Given the description of an element on the screen output the (x, y) to click on. 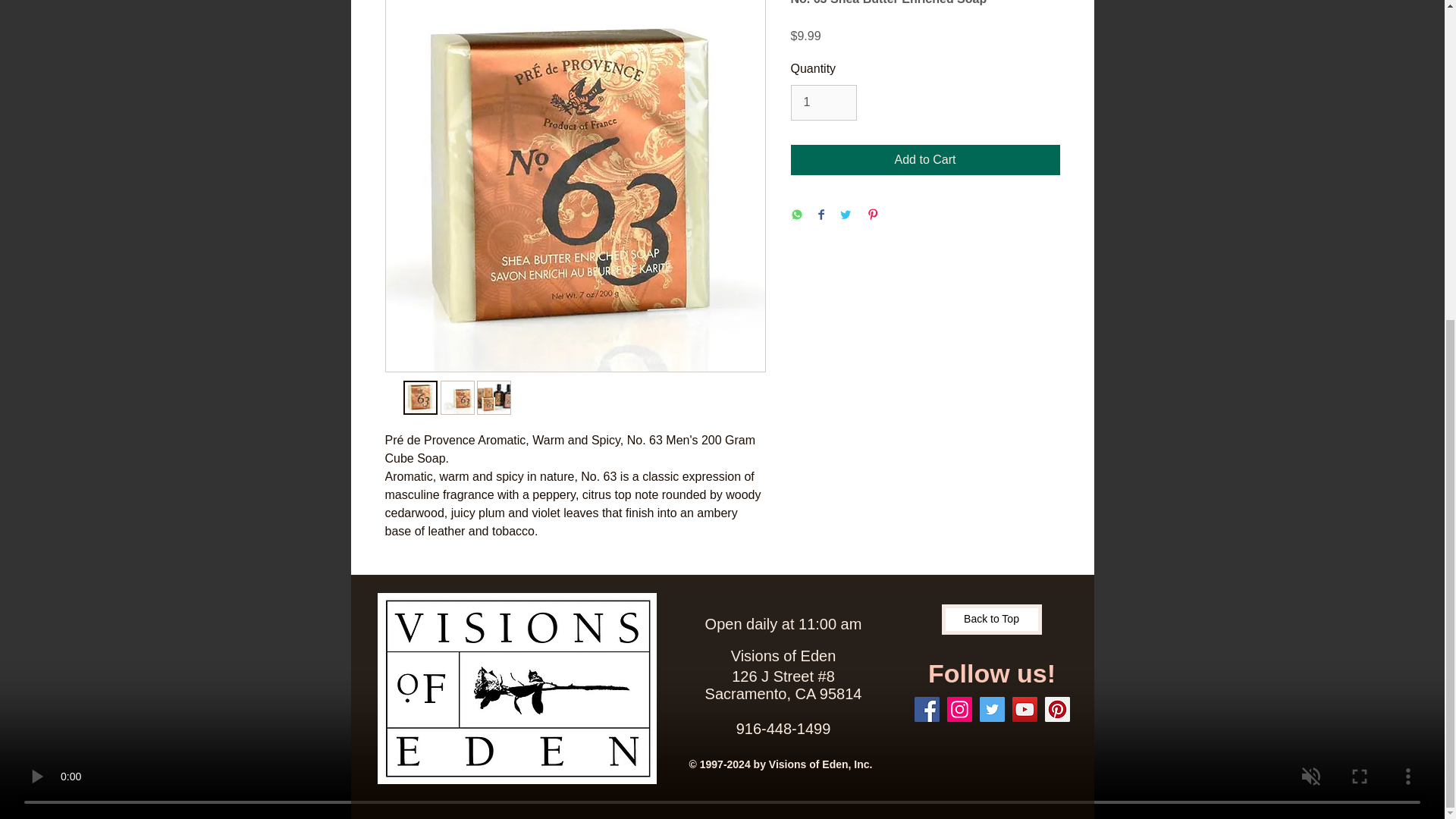
Add to Cart (924, 159)
1 (823, 102)
